Given the description of an element on the screen output the (x, y) to click on. 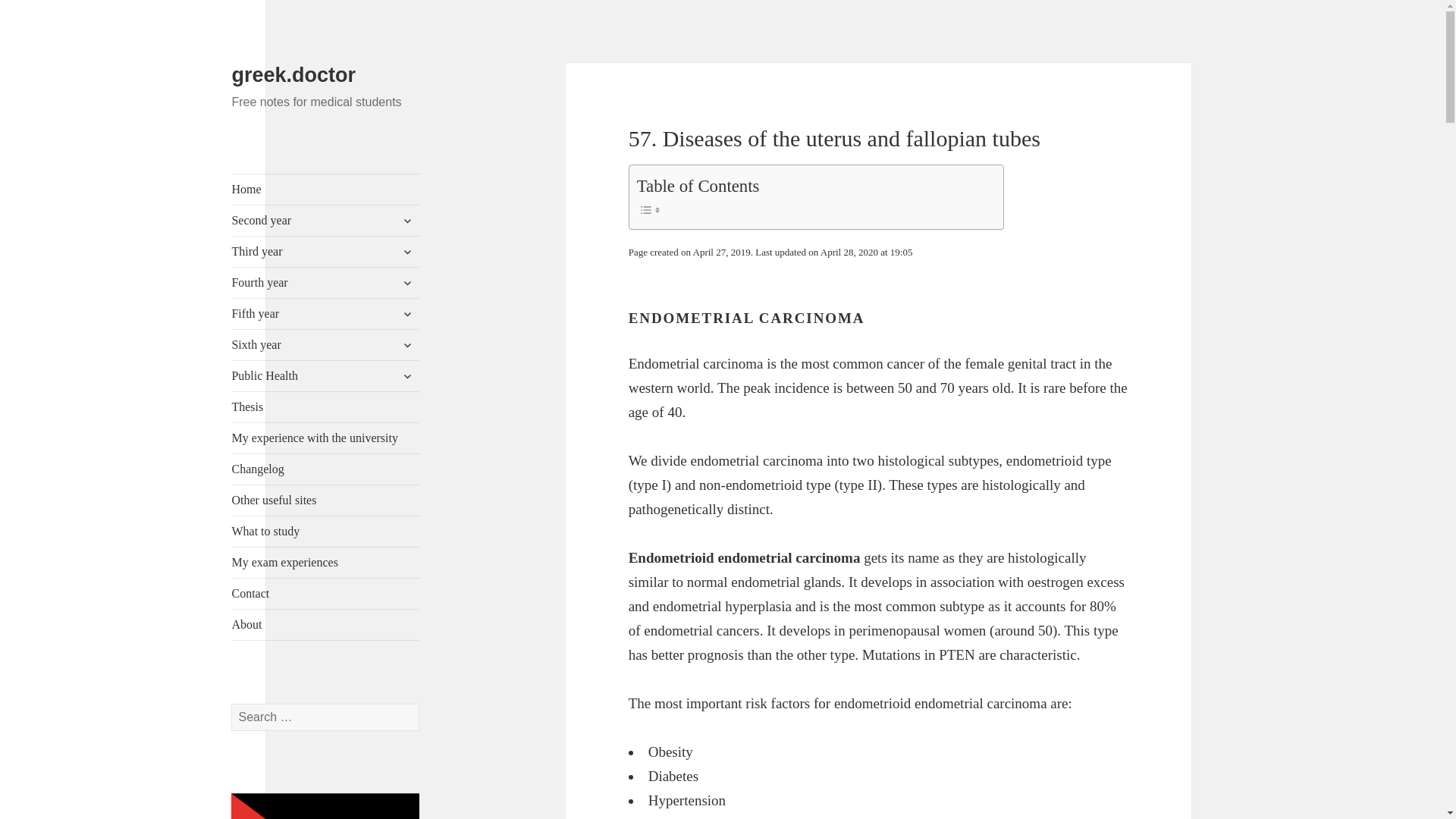
expand child menu (406, 251)
expand child menu (406, 220)
Third year (325, 251)
Home (325, 189)
Second year (325, 220)
greek.doctor (293, 74)
Fourth year (325, 282)
